Given the description of an element on the screen output the (x, y) to click on. 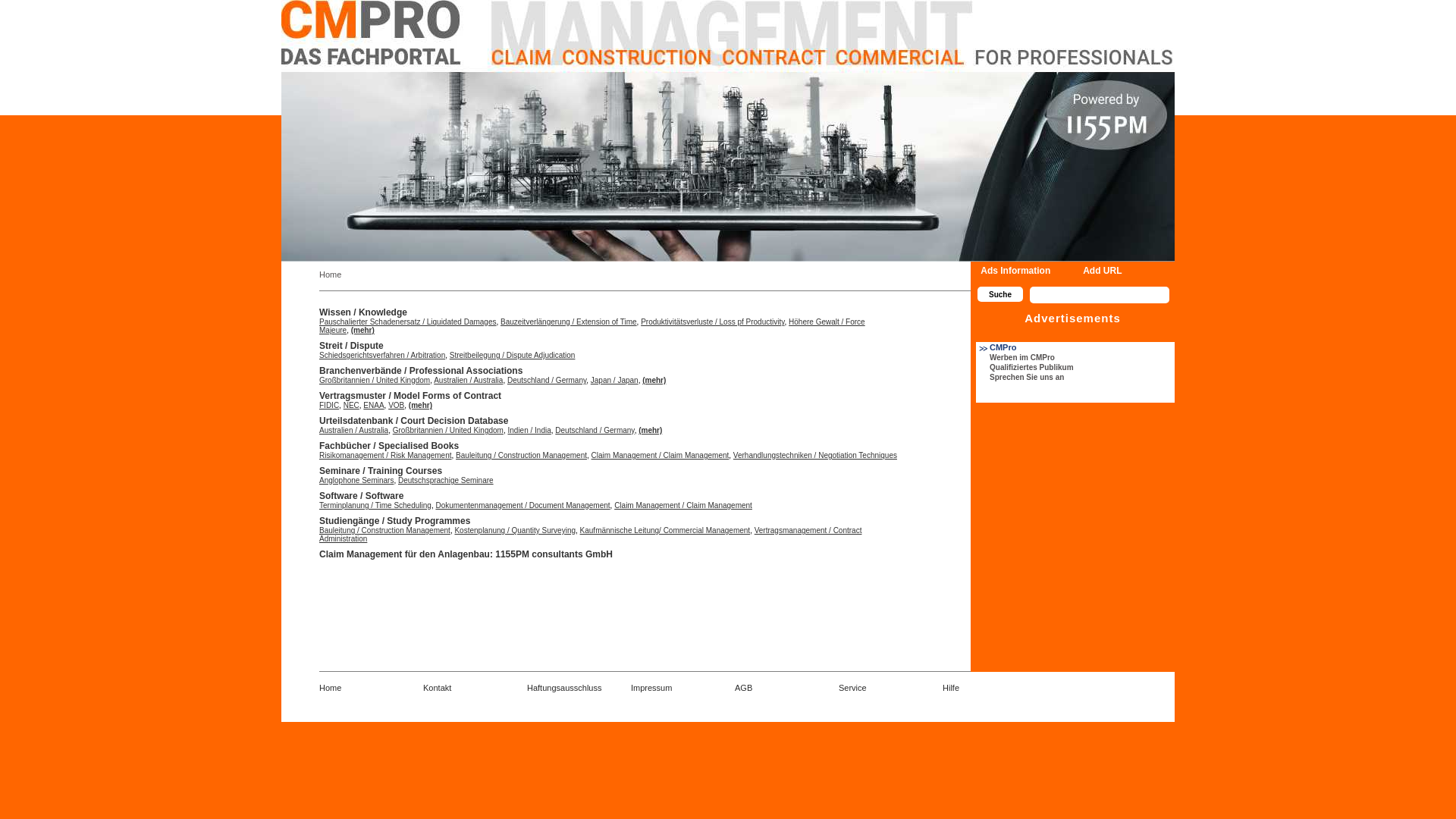
Software / Software Element type: text (361, 495)
Australien / Australia Element type: text (467, 380)
Deutschland / Germany Element type: text (546, 380)
Impressum Element type: text (650, 687)
Vertragsmuster / Model Forms of Contract Element type: text (410, 395)
FIDIC Element type: text (328, 405)
Japan / Japan Element type: text (614, 380)
Kostenplanung / Quantity Surveying Element type: text (514, 530)
Schiedsgerichtsverfahren / Arbitration Element type: text (382, 355)
Seminare / Training Courses Element type: text (380, 470)
Risikomanagement / Risk Management Element type: text (385, 455)
Vertragsmanagement / Contract Administration Element type: text (590, 534)
Claim Management / Claim Management Element type: text (683, 505)
NEC Element type: text (351, 405)
CMPro Element type: text (995, 346)
Ads Information Element type: text (1014, 270)
(mehr) Element type: text (362, 330)
VOB Element type: text (396, 405)
Australien / Australia Element type: text (353, 430)
AGB Element type: text (743, 687)
Haftungsausschluss Element type: text (564, 687)
Anglophone Seminars Element type: text (356, 480)
Pauschalierter Schadenersatz / Liquidated Damages Element type: text (407, 321)
(mehr) Element type: text (420, 405)
Service Element type: text (852, 687)
Wissen / Knowledge Element type: text (363, 312)
Bauleitung / Construction Management Element type: text (520, 455)
Add URL Element type: text (1101, 270)
Urteilsdatenbank / Court Decision Database Element type: text (413, 420)
Streit / Dispute Element type: text (351, 345)
Kontakt Element type: text (437, 687)
Dokumentenmanagement / Document Management Element type: text (522, 505)
Terminplanung / Time Scheduling Element type: text (375, 505)
Bauleitung / Construction Management Element type: text (384, 530)
Deutschland / Germany Element type: text (594, 430)
Verhandlungstechniken / Negotiation Techniques Element type: text (815, 455)
Claim Management / Claim Management Element type: text (660, 455)
(mehr) Element type: text (653, 380)
Indien / India Element type: text (528, 430)
Streitbeilegung / Dispute Adjudication Element type: text (512, 355)
ENAA Element type: text (373, 405)
(mehr) Element type: text (650, 430)
Home Element type: text (330, 687)
Suche Element type: text (999, 293)
Hilfe Element type: text (950, 687)
Deutschsprachige Seminare Element type: text (445, 480)
